Given the description of an element on the screen output the (x, y) to click on. 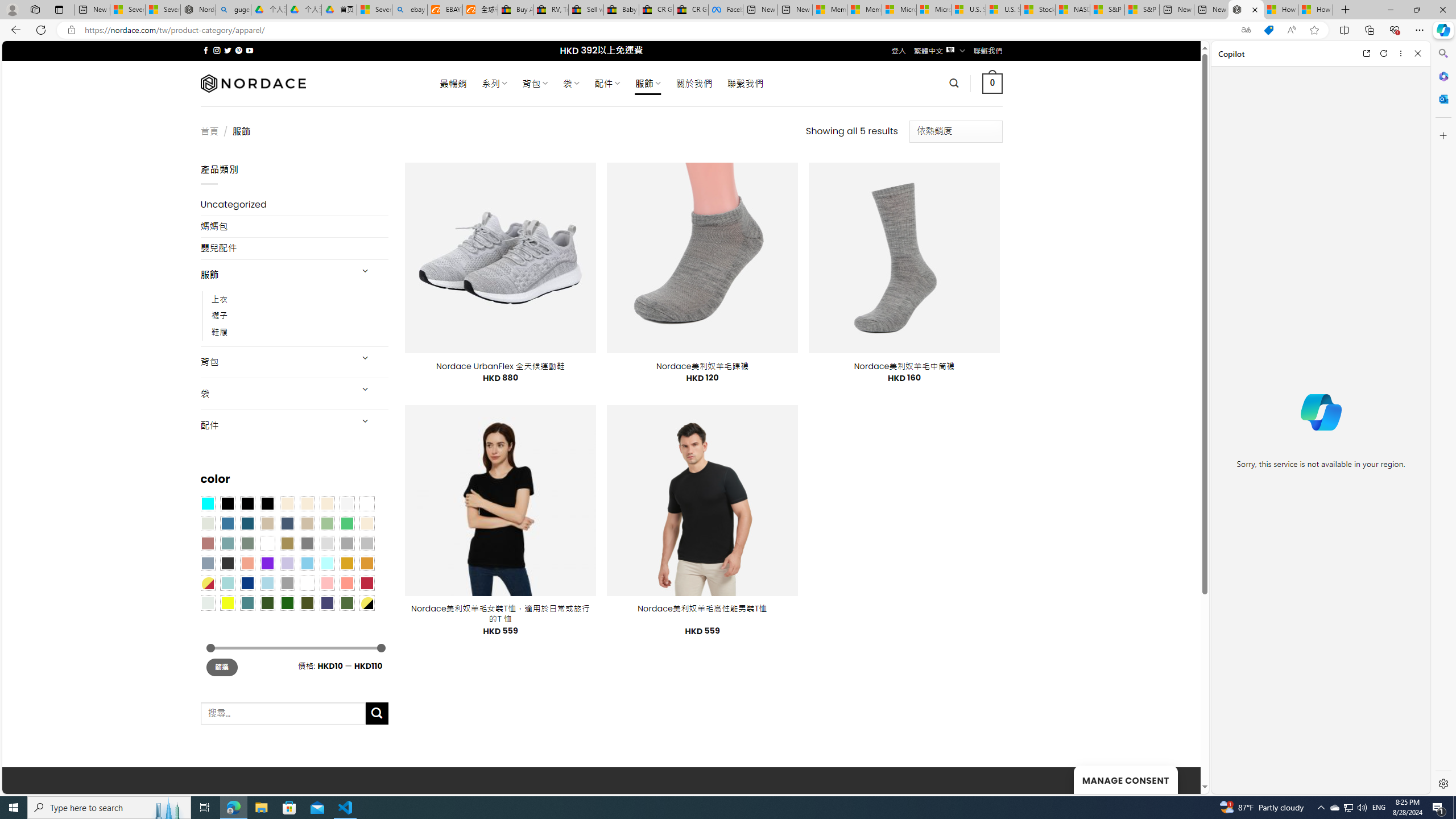
 0  (992, 83)
Follow on YouTube (249, 50)
guge yunpan - Search (233, 9)
